Given the description of an element on the screen output the (x, y) to click on. 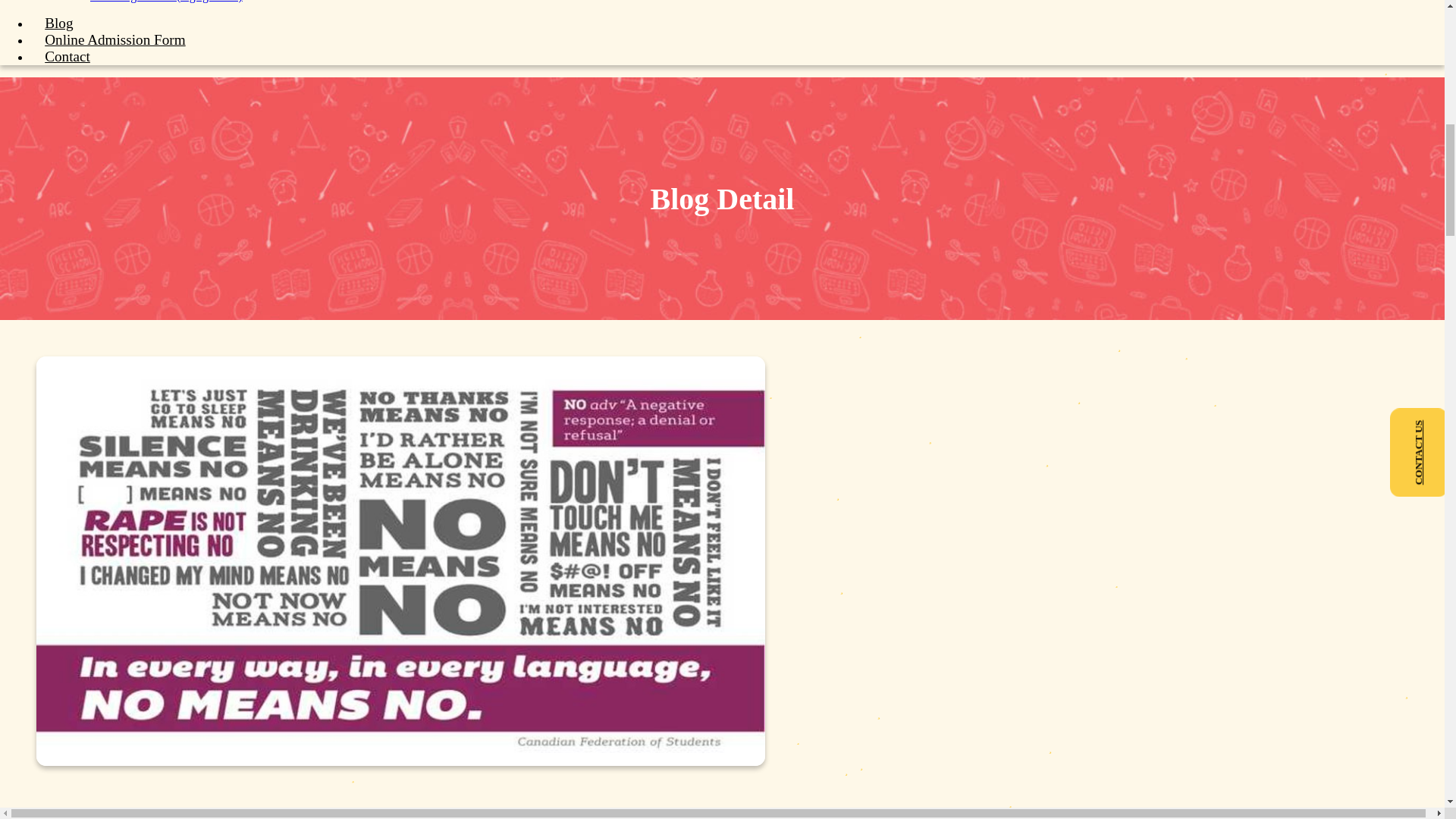
Online Admission Form (115, 39)
Contact (67, 56)
Blog (58, 23)
